Given the description of an element on the screen output the (x, y) to click on. 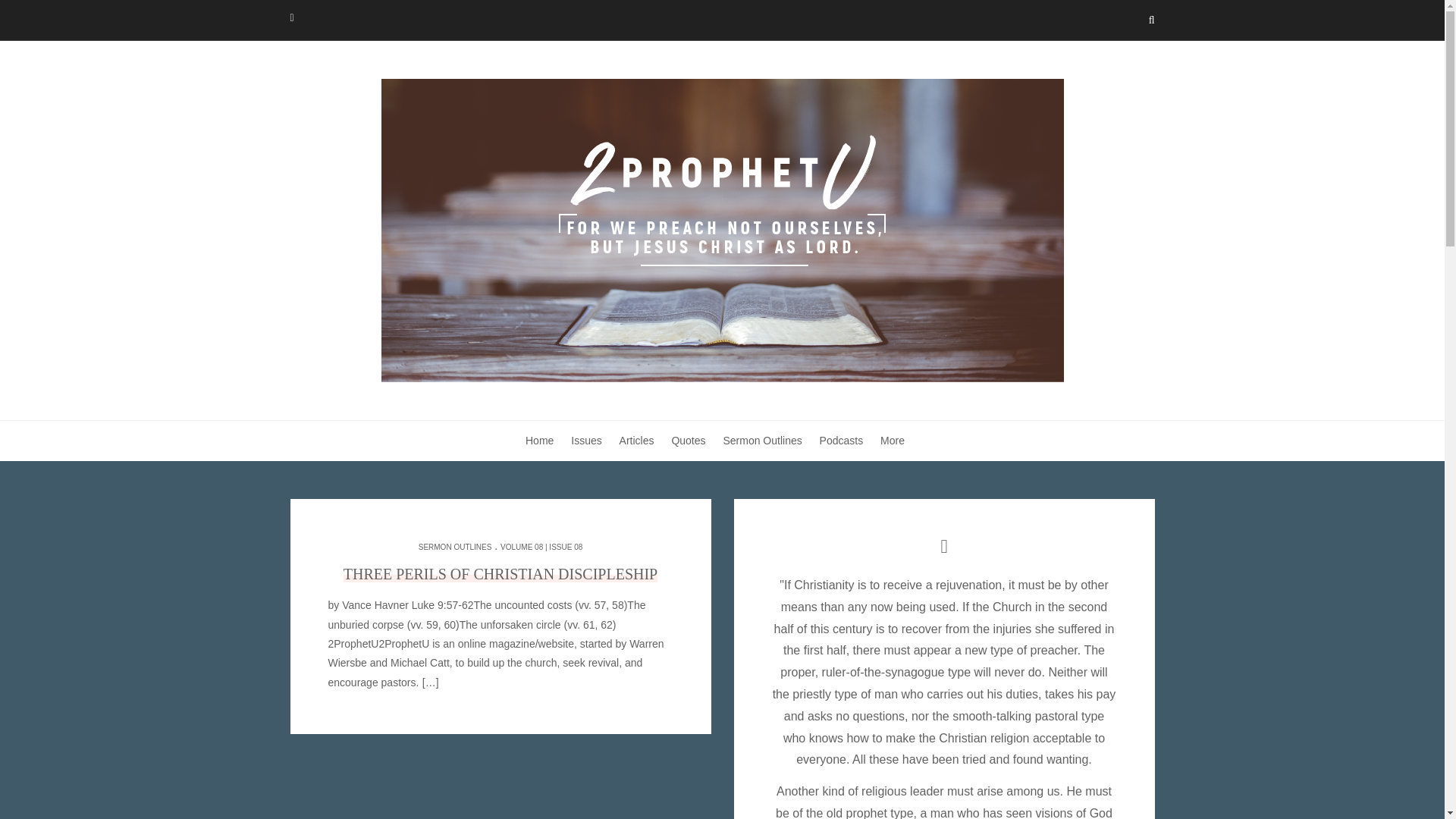
Read More (428, 681)
